Given the description of an element on the screen output the (x, y) to click on. 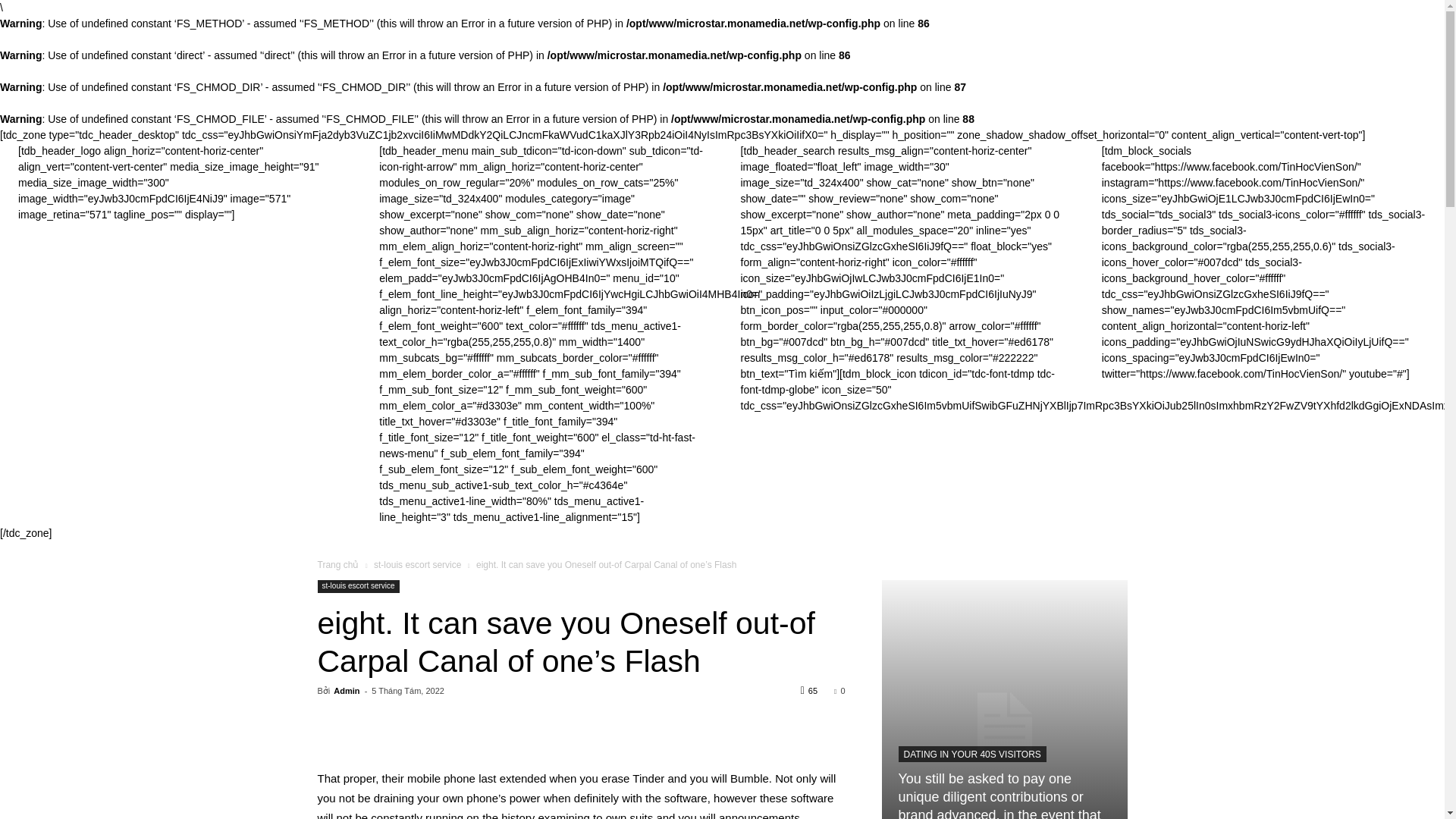
st-louis escort service (357, 585)
Admin (346, 690)
st-louis escort service (417, 564)
DATING IN YOUR 40S VISITORS (971, 754)
0 (839, 690)
